Given the description of an element on the screen output the (x, y) to click on. 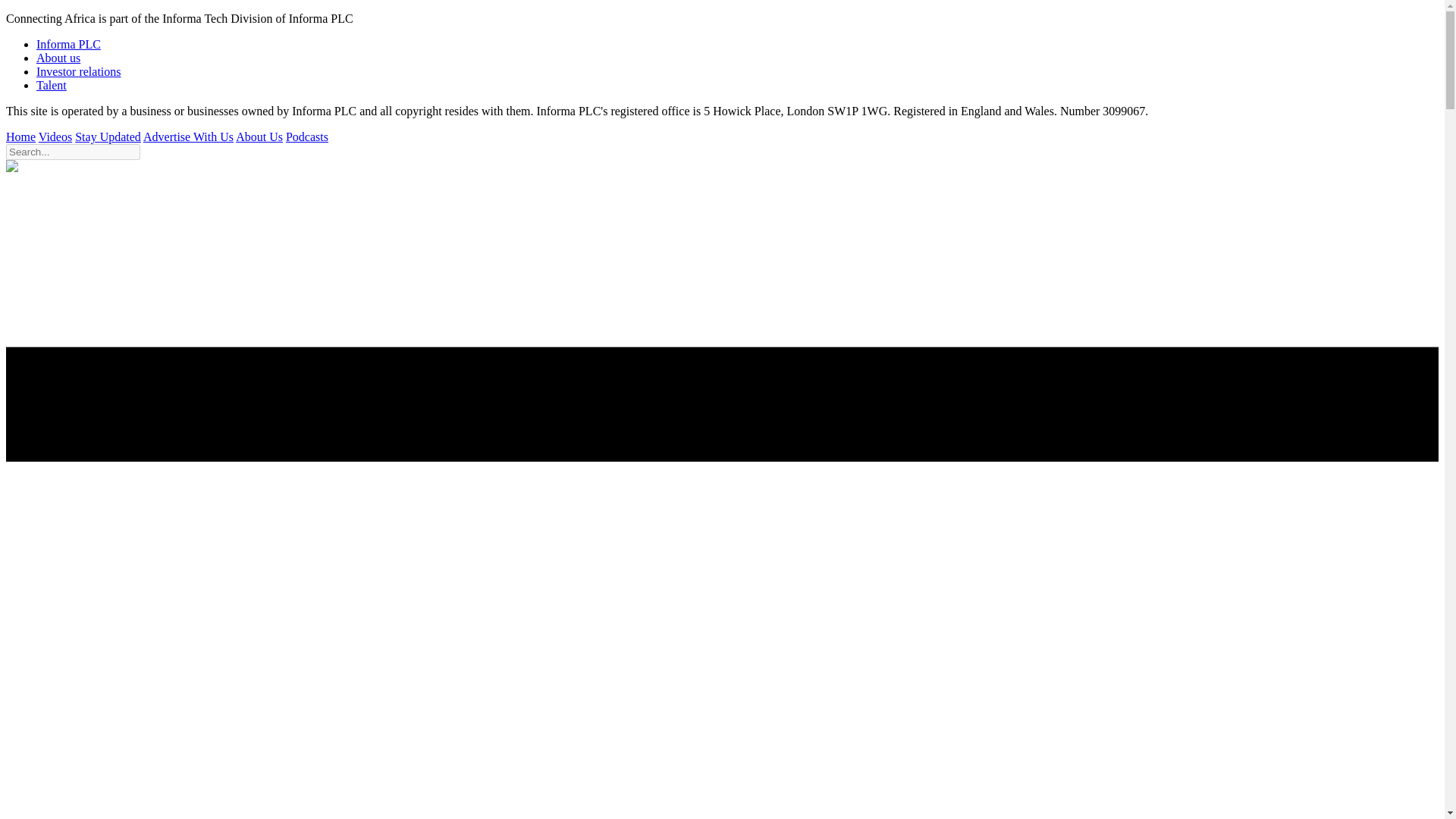
About Us (258, 136)
Careers at Informa (51, 84)
Stay Updated (108, 136)
Advertise With Us (187, 136)
Home (19, 136)
Go to Informa website (68, 43)
Learn more about Informa's Investor relations (78, 71)
Talent (51, 84)
Podcasts (307, 136)
Learn more about Informa (58, 57)
Videos (55, 136)
About us (58, 57)
Investor relations (78, 71)
Informa PLC (68, 43)
